Given the description of an element on the screen output the (x, y) to click on. 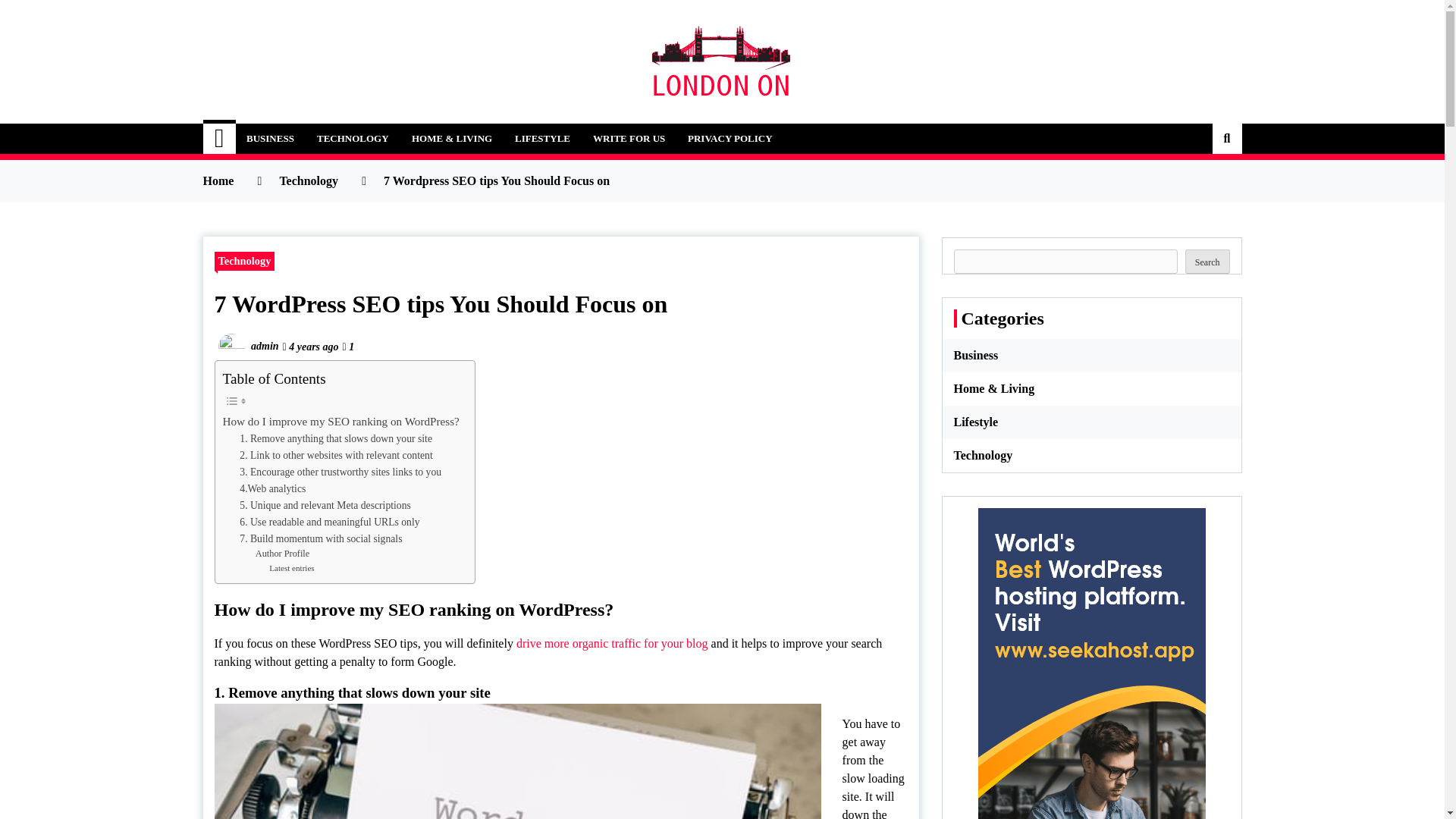
7. Build momentum with social signals (320, 538)
How do I improve my SEO ranking on WordPress? (341, 421)
Author Profile (282, 554)
3. Encourage other trustworthy sites links to you (340, 472)
Latest entries (291, 568)
2. Link to other websites with relevant content (336, 455)
Home (218, 180)
4.Web analytics (272, 488)
Home (219, 138)
6. Use readable and meaningful URLs only (329, 522)
Author Profile (282, 554)
London On (286, 129)
PRIVACY POLICY (730, 138)
4.Web analytics (272, 488)
